Given the description of an element on the screen output the (x, y) to click on. 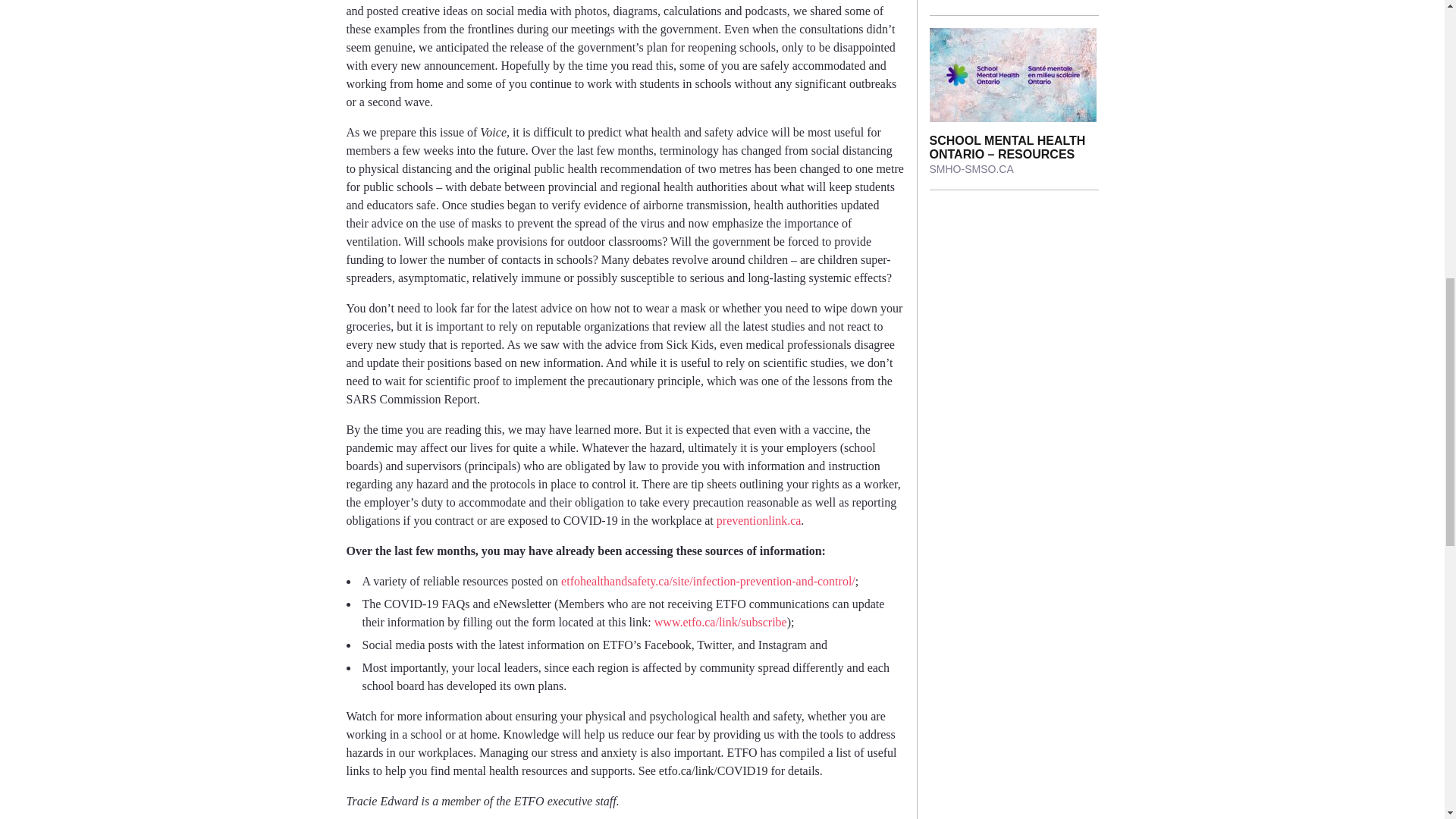
preventionlink.ca (759, 520)
SMHO-SMSO.CA (971, 168)
ETFOFNMI.CA (965, 0)
